Given the description of an element on the screen output the (x, y) to click on. 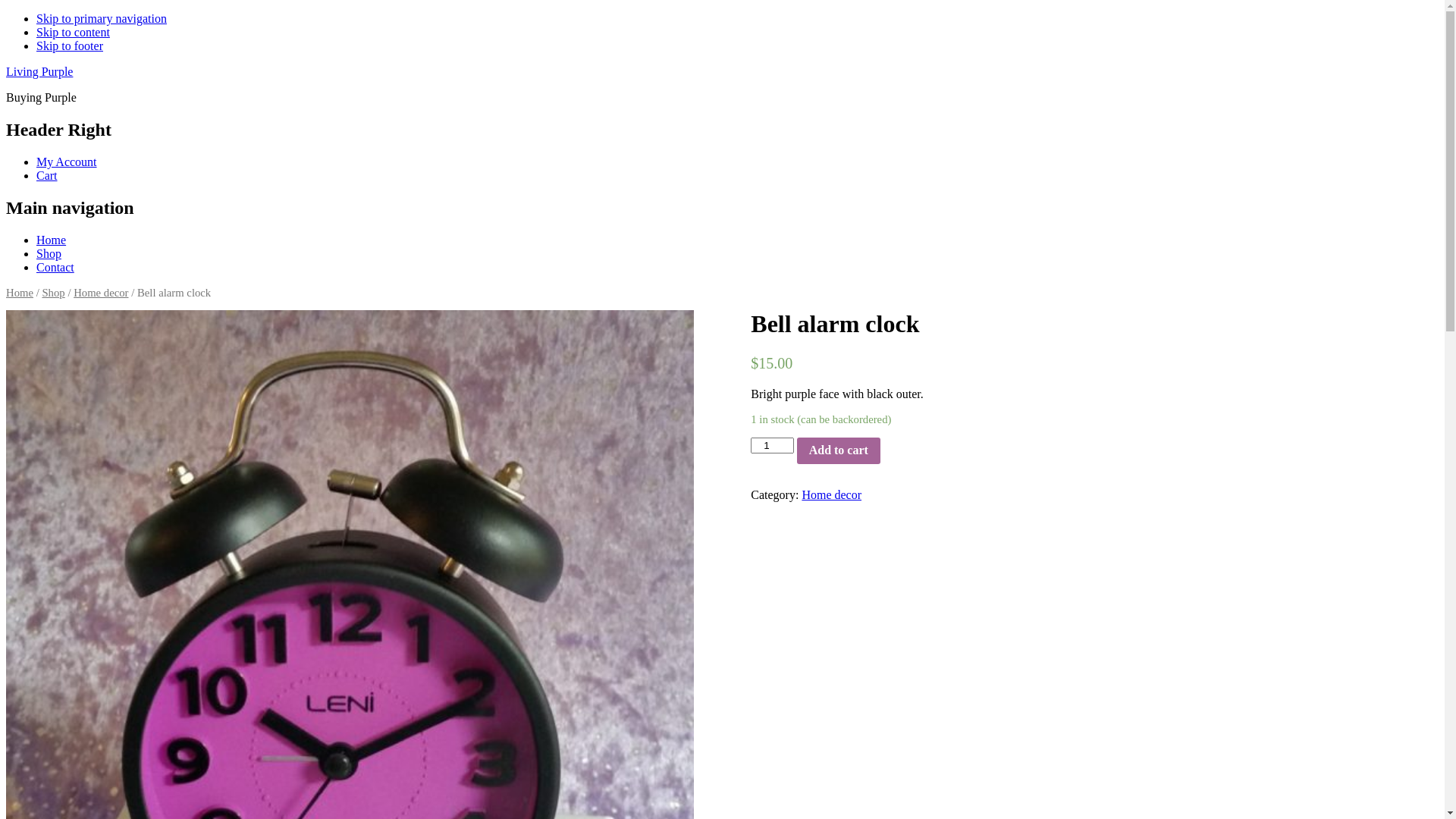
Shop Element type: text (52, 292)
Shop Element type: text (48, 253)
Home decor Element type: text (831, 494)
Home Element type: text (19, 292)
Home Element type: text (50, 239)
Skip to footer Element type: text (69, 45)
My Account Element type: text (66, 161)
Cart Element type: text (46, 175)
Qty Element type: hover (771, 444)
Add to cart Element type: text (838, 450)
Home decor Element type: text (100, 292)
Contact Element type: text (55, 266)
Living Purple Element type: text (39, 71)
Skip to content Element type: text (72, 31)
Skip to primary navigation Element type: text (101, 18)
